Given the description of an element on the screen output the (x, y) to click on. 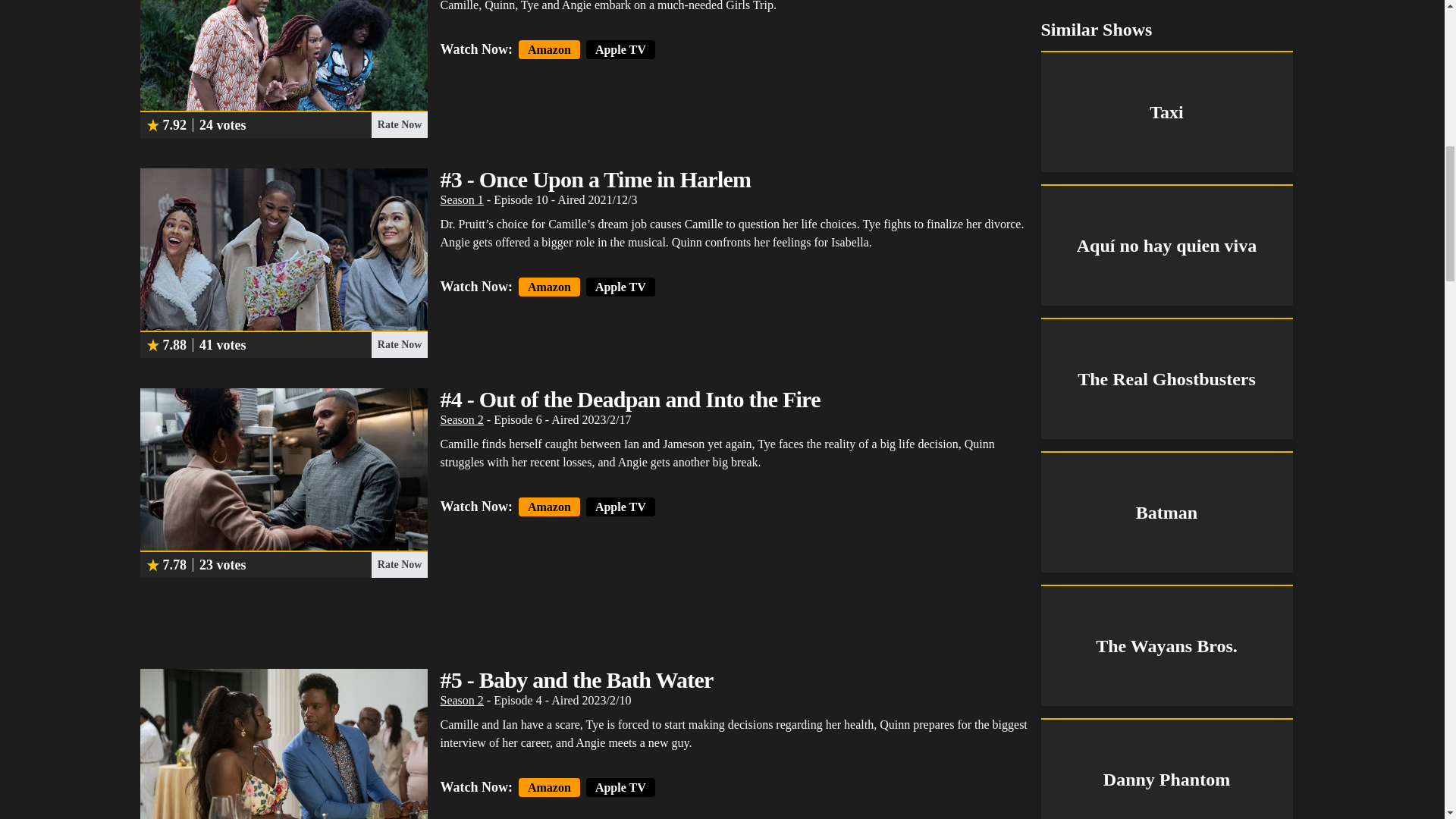
Season 2 (461, 699)
Rate Now (399, 565)
Amazon (548, 787)
Season 2 (461, 419)
Amazon (548, 49)
Amazon (548, 506)
Apple TV (620, 286)
Apple TV (620, 506)
Amazon (548, 286)
Apple TV (620, 787)
